Given the description of an element on the screen output the (x, y) to click on. 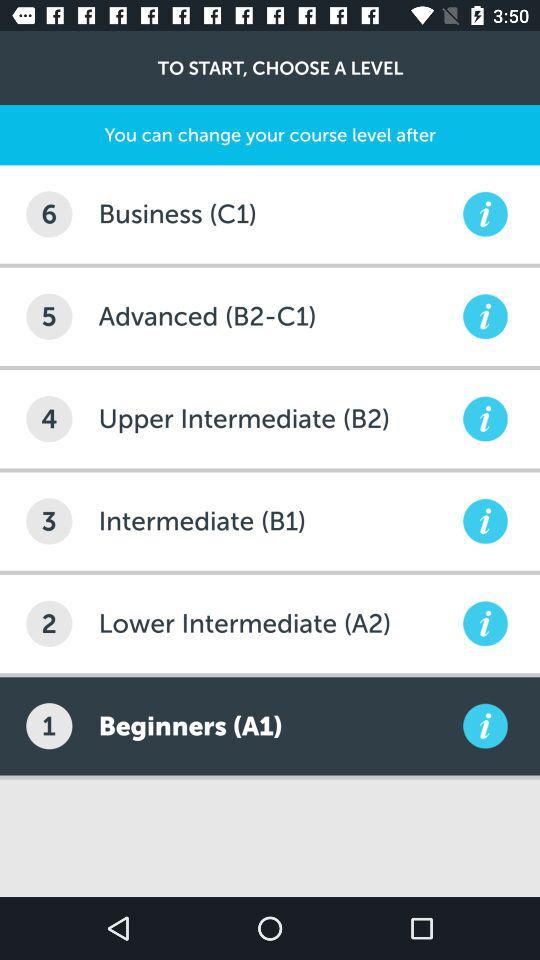
icon button (485, 316)
